Given the description of an element on the screen output the (x, y) to click on. 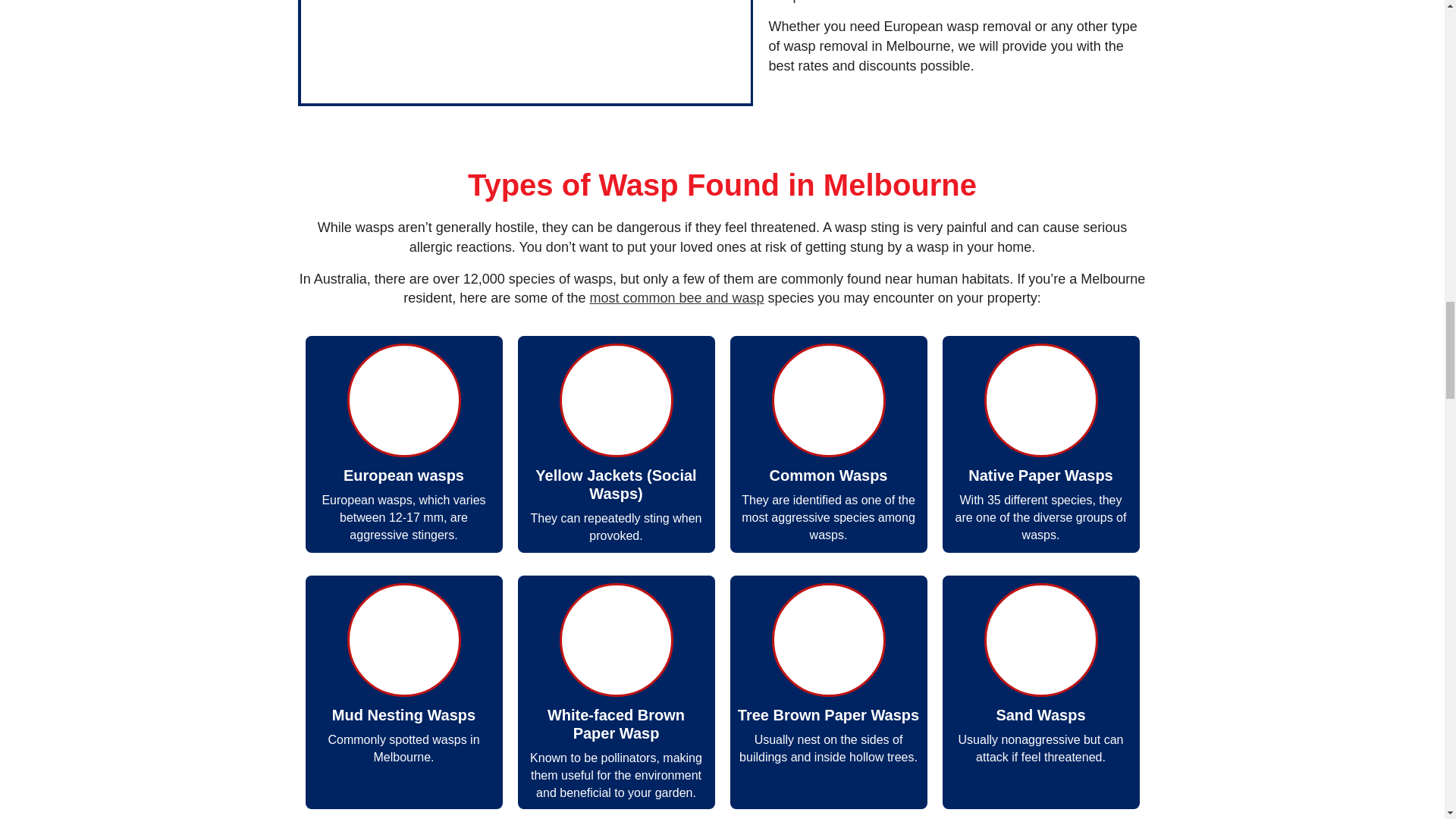
most common bee and wasp (675, 297)
